Given the description of an element on the screen output the (x, y) to click on. 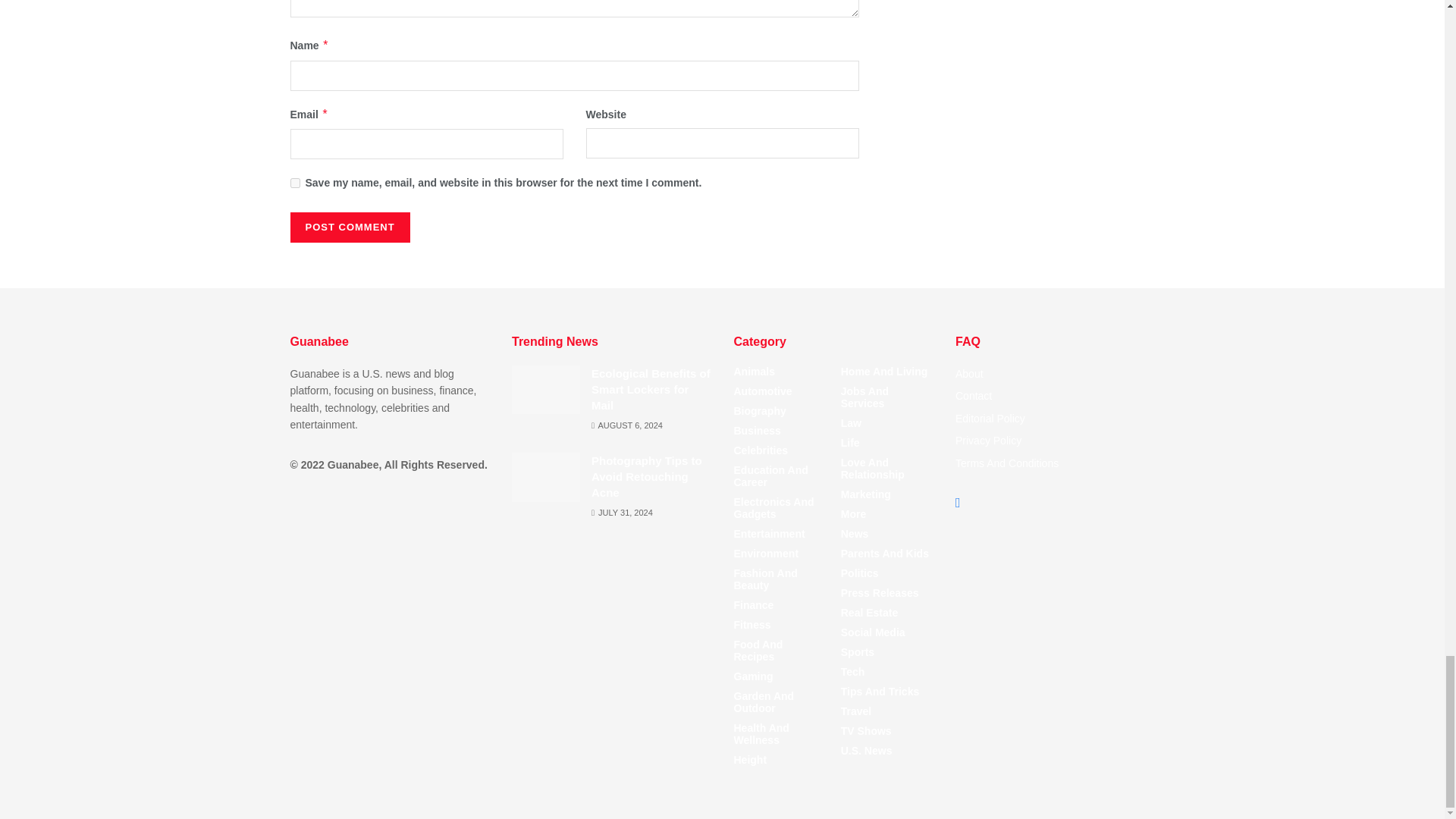
Post Comment (349, 227)
Post Comment (349, 227)
yes (294, 183)
